Given the description of an element on the screen output the (x, y) to click on. 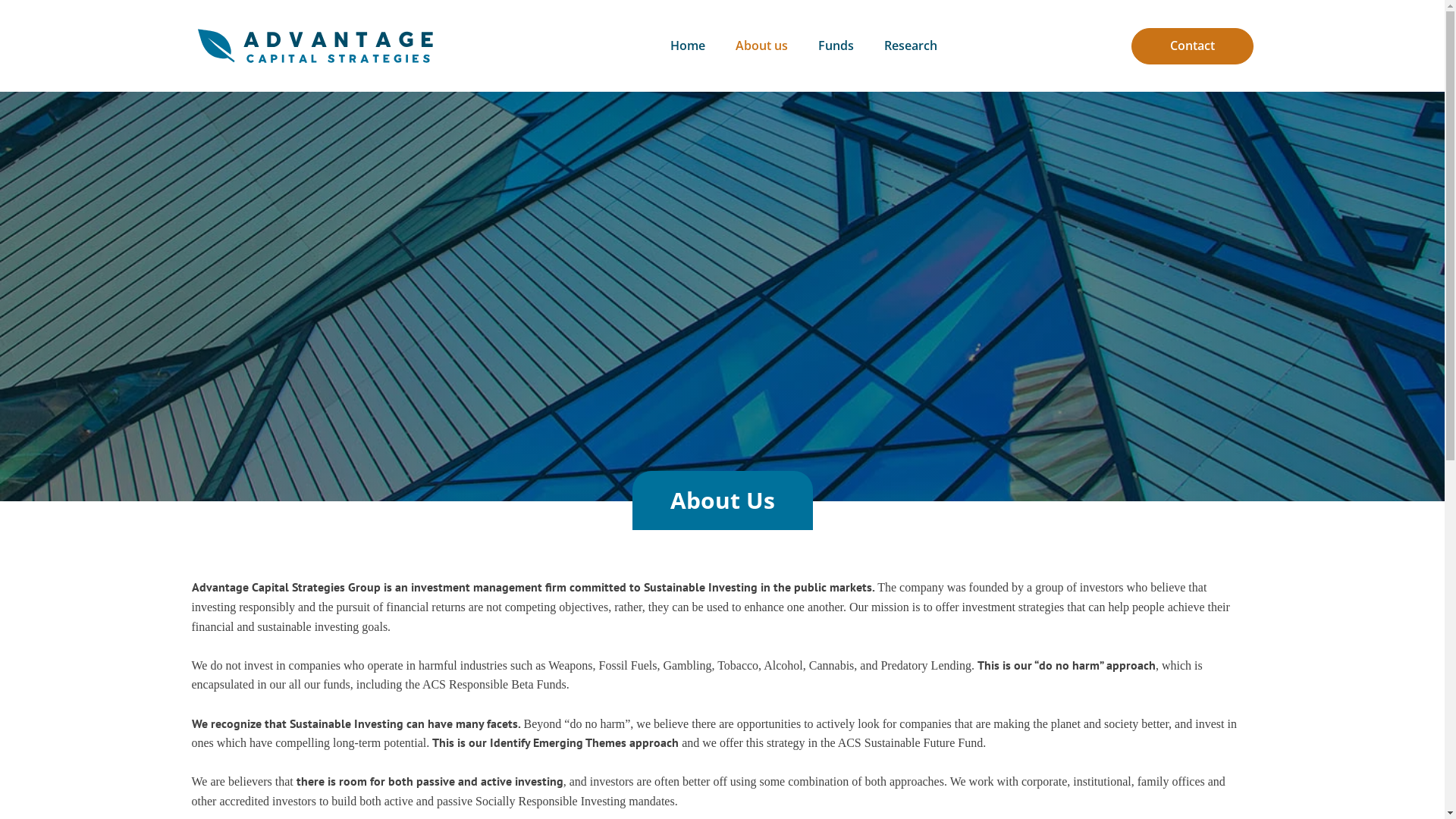
Home Element type: text (687, 46)
About us Element type: text (761, 46)
Contact Element type: text (1192, 46)
Research Element type: text (910, 46)
Funds Element type: text (835, 46)
